Given the description of an element on the screen output the (x, y) to click on. 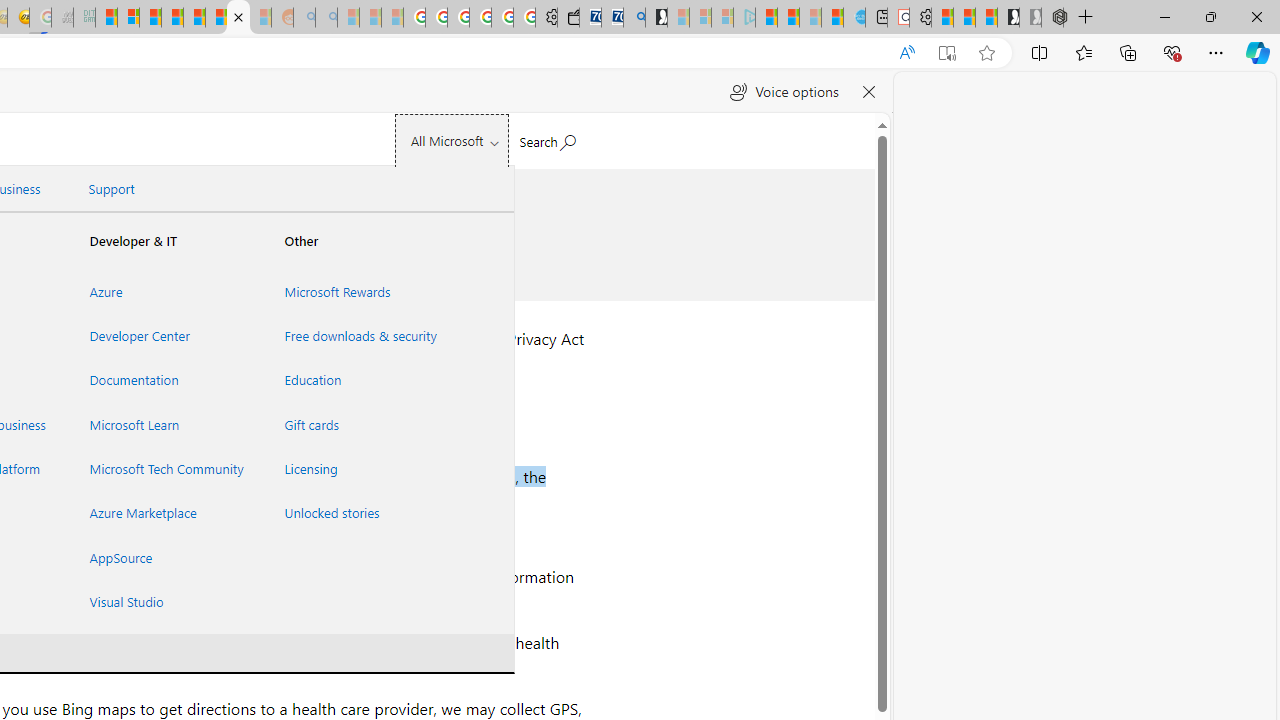
Voice options (783, 92)
Unlocked stories (357, 513)
Student Loan Update: Forgiveness Program Ends This Month (172, 17)
Visual Studio (163, 601)
